Given the description of an element on the screen output the (x, y) to click on. 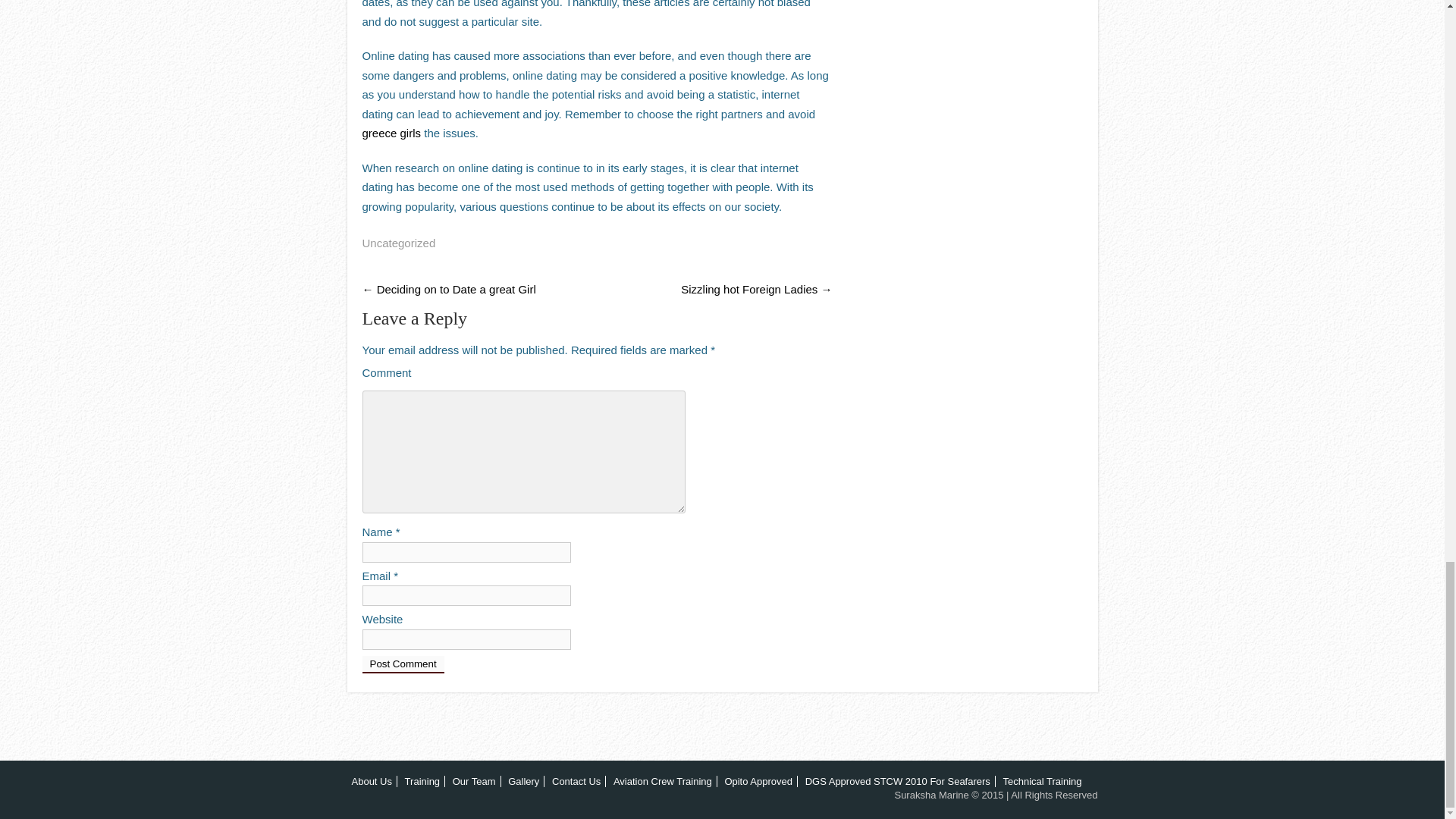
Post Comment (403, 663)
Post Comment (403, 663)
Uncategorized (398, 242)
greece girls (392, 132)
